Given the description of an element on the screen output the (x, y) to click on. 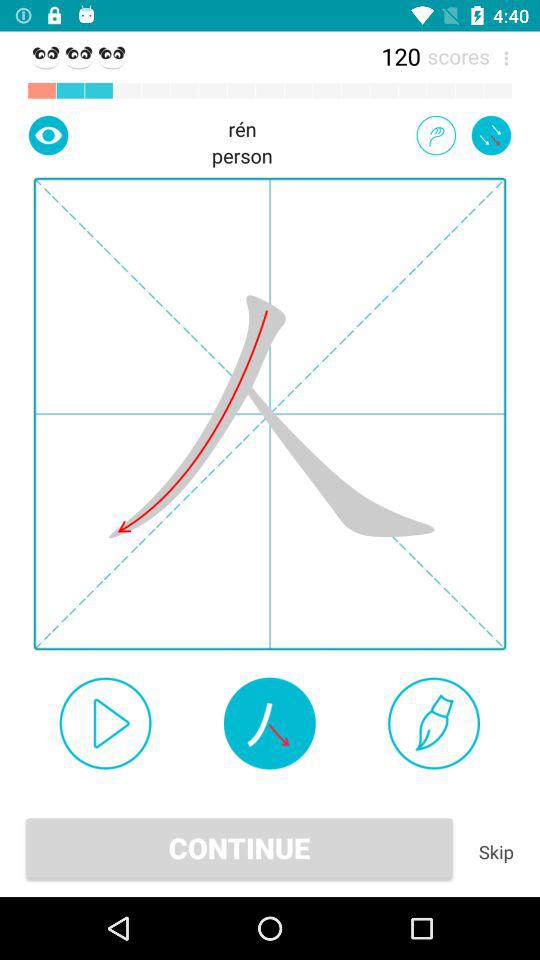
press item next to the continue item (495, 851)
